Given the description of an element on the screen output the (x, y) to click on. 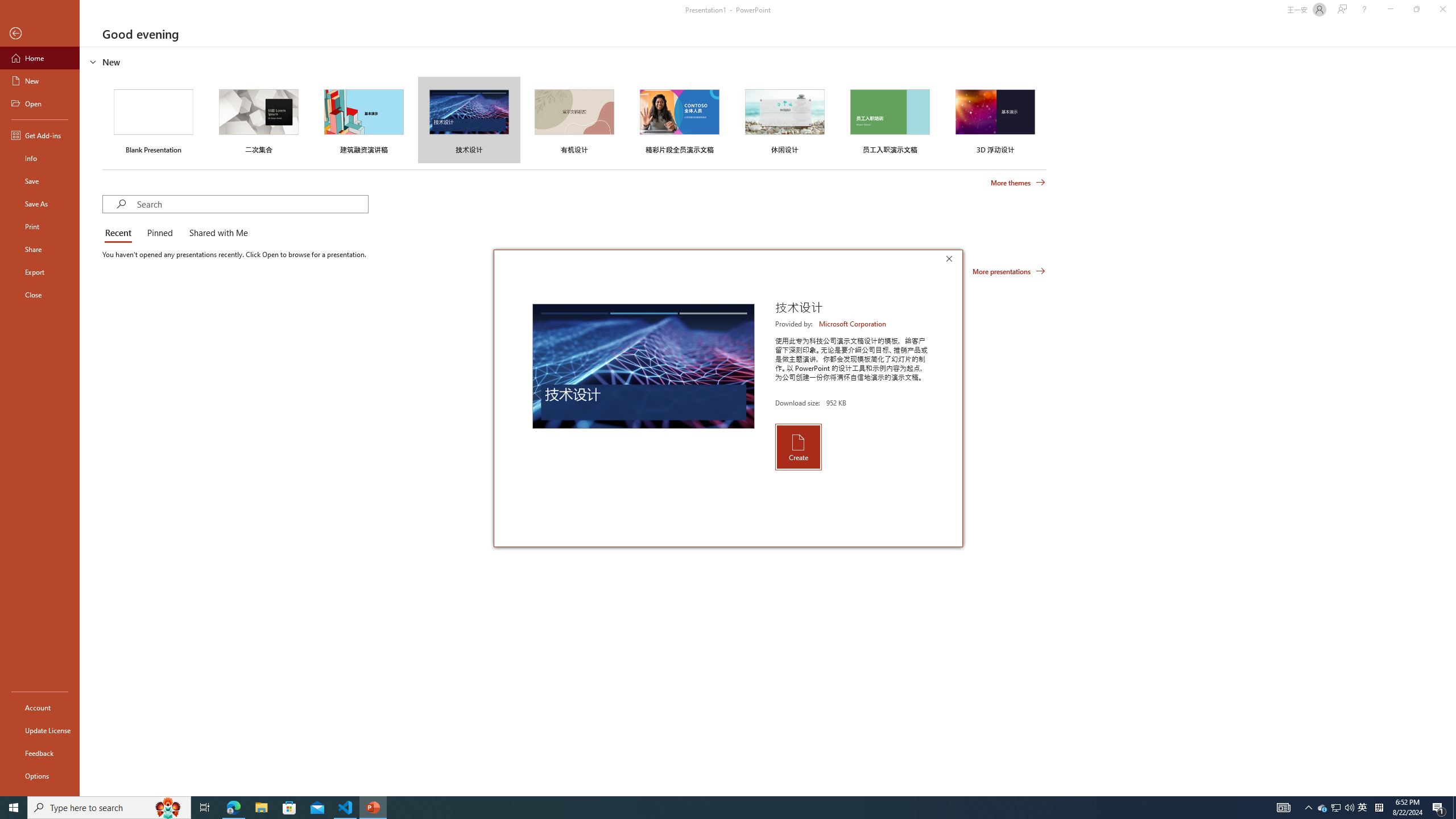
Shared with Me (215, 233)
Export (40, 271)
New (40, 80)
Back (40, 33)
